Given the description of an element on the screen output the (x, y) to click on. 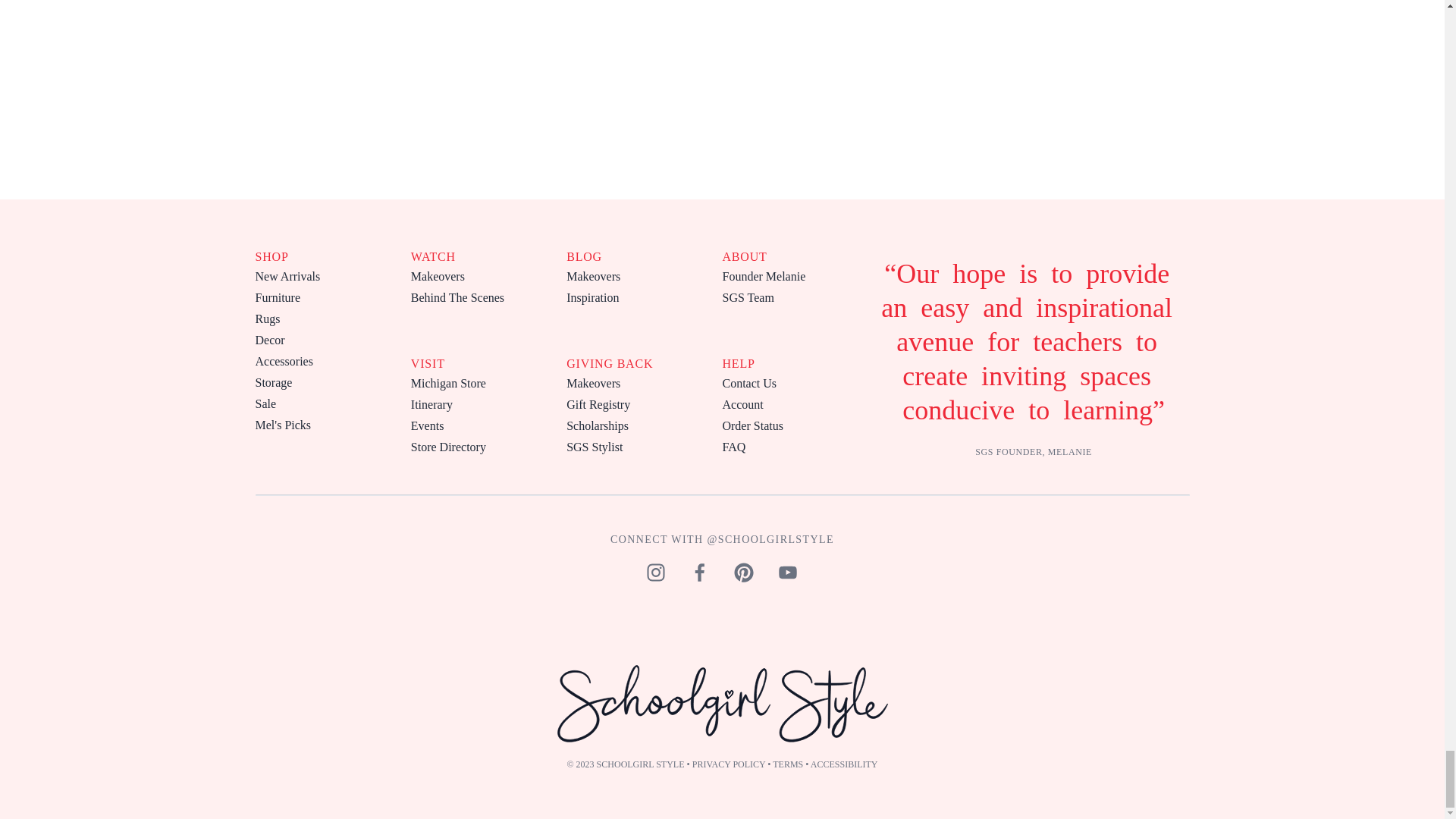
Furniture (276, 297)
Rugs (266, 318)
New Arrivals (287, 276)
SHOP (271, 256)
